Given the description of an element on the screen output the (x, y) to click on. 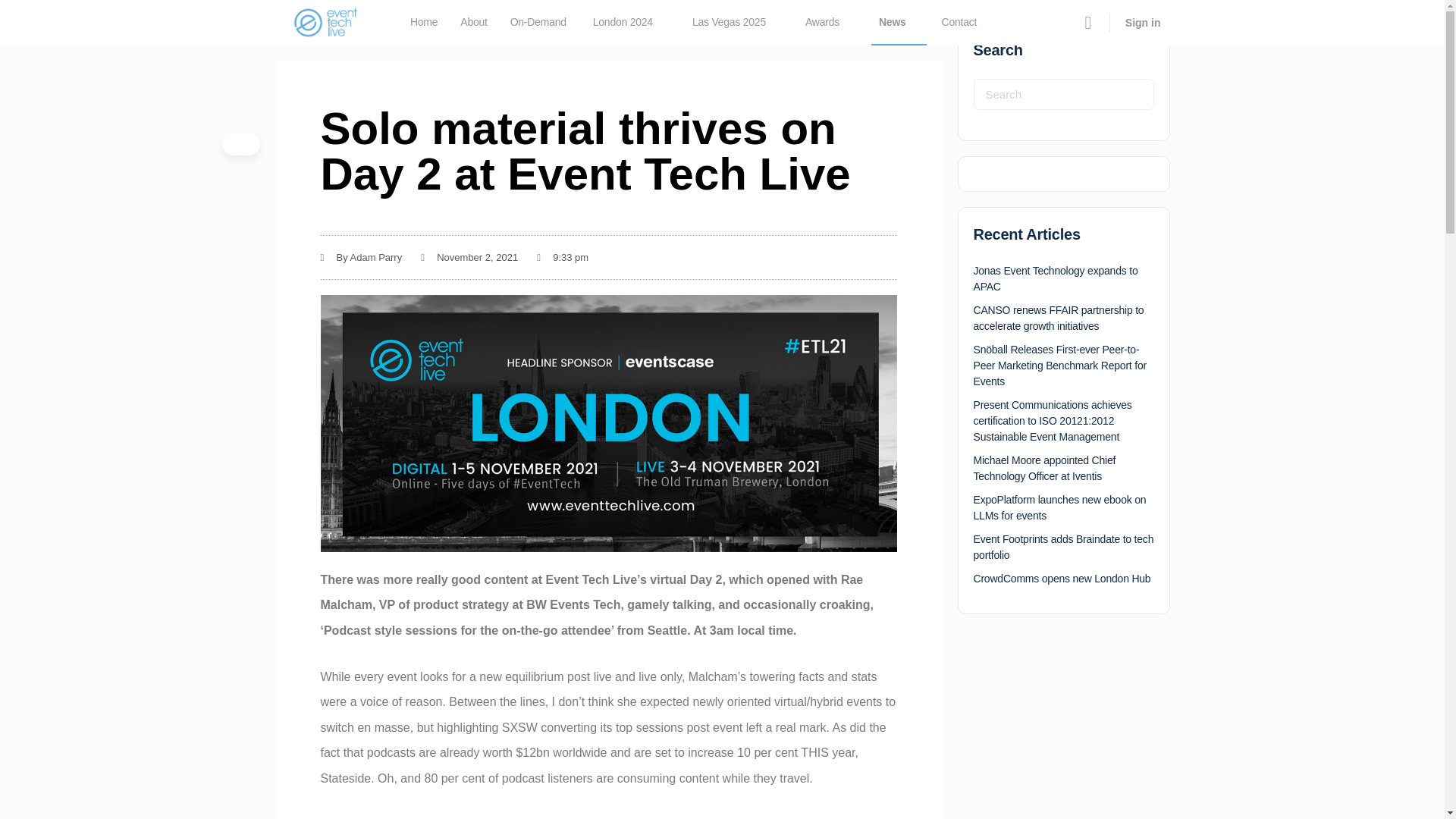
Sign in (1143, 22)
About (473, 22)
On-Demand (537, 22)
Las Vegas 2025 (735, 22)
Awards (828, 22)
Contact (959, 22)
Home (424, 22)
News (898, 22)
London 2024 (628, 22)
